Given the description of an element on the screen output the (x, y) to click on. 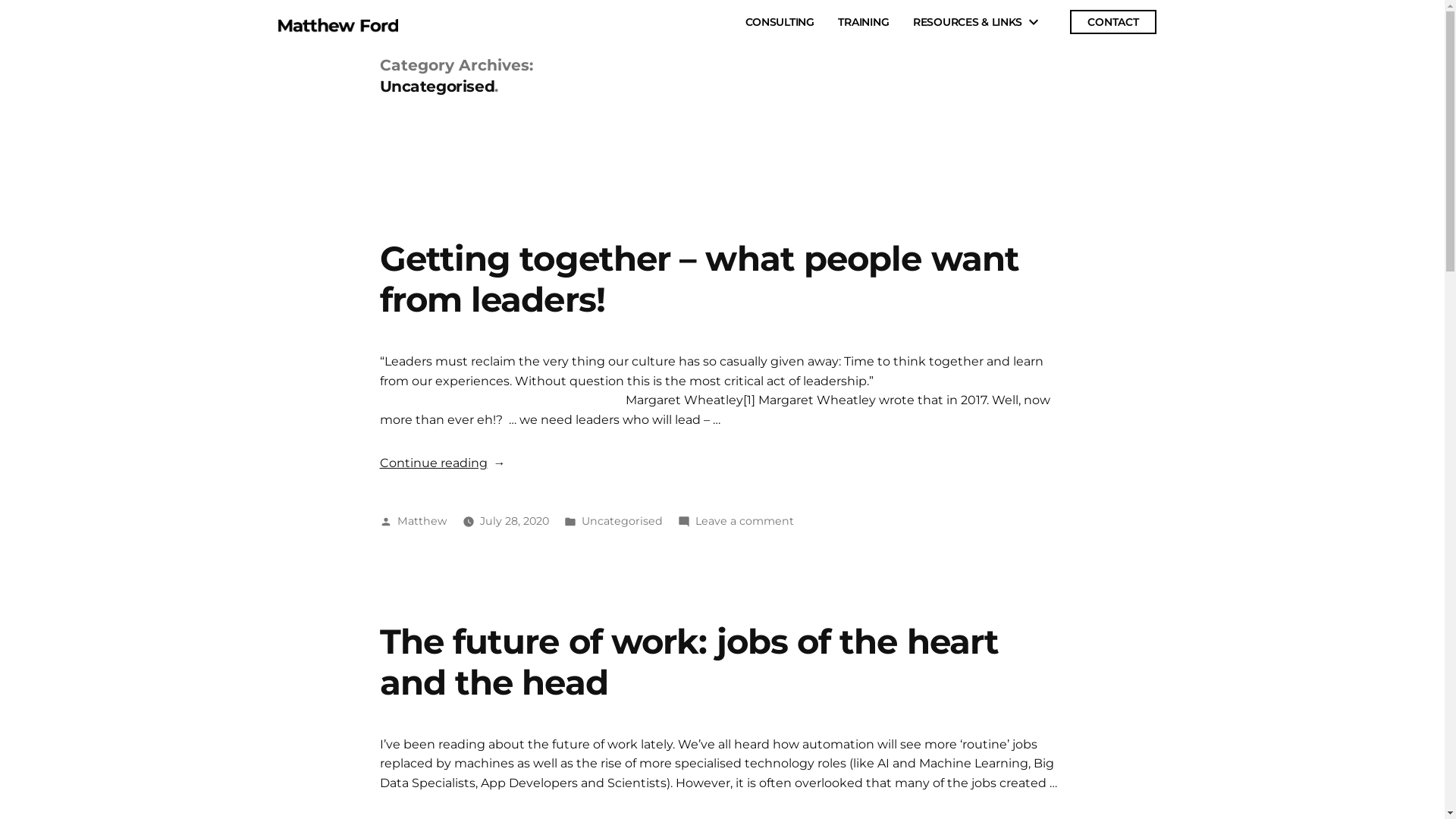
The future of work: jobs of the heart and the head Element type: text (688, 661)
Uncategorised Element type: text (621, 520)
July 28, 2020 Element type: text (514, 520)
CONSULTING Element type: text (779, 21)
CONTACT Element type: text (1112, 21)
TRAINING Element type: text (862, 21)
Matthew Element type: text (422, 520)
RESOURCES & LINKS Element type: text (967, 21)
